Given the description of an element on the screen output the (x, y) to click on. 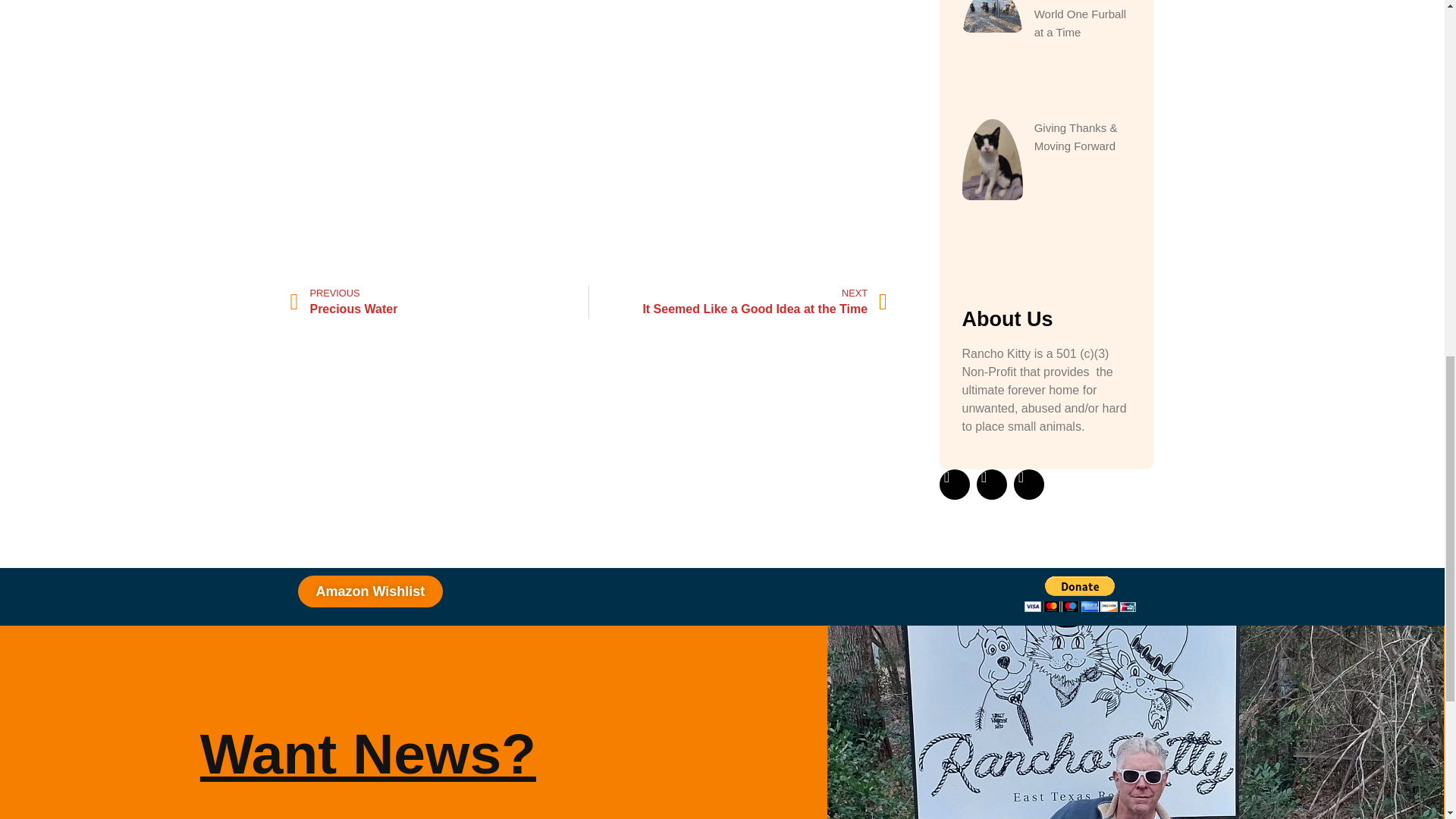
Meeting the Babies Hop Along (438, 302)
How to Fix the World One Furball at a Time (1080, 593)
